Given the description of an element on the screen output the (x, y) to click on. 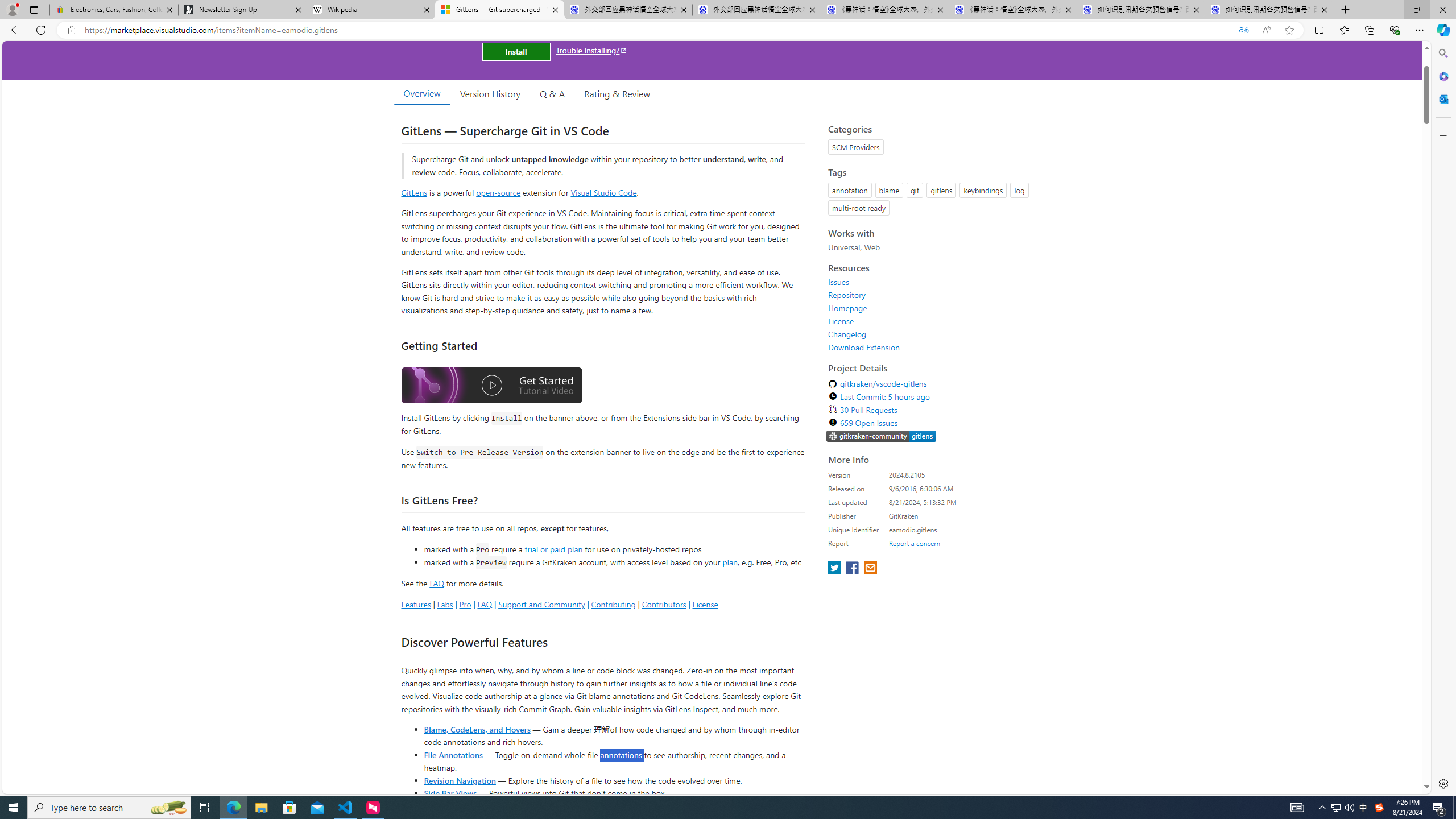
Repository (847, 294)
FAQ (484, 603)
trial or paid plan (553, 548)
Version History (489, 92)
plan (730, 562)
Watch the GitLens Getting Started video (491, 387)
